Given the description of an element on the screen output the (x, y) to click on. 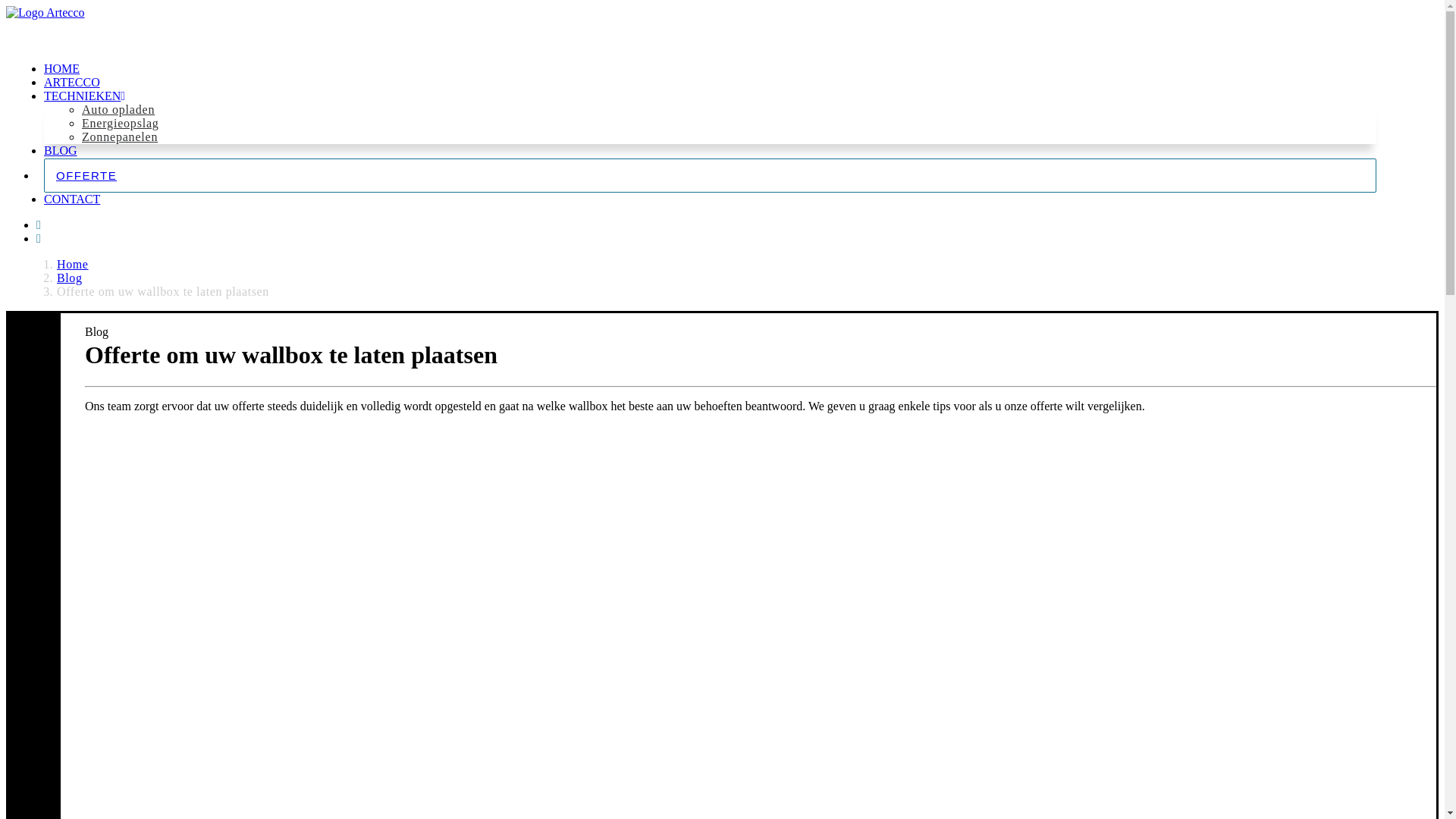
CONTACT Element type: text (71, 198)
BLOG Element type: text (60, 150)
Blog Element type: text (69, 277)
Home Element type: text (72, 263)
Energieopslag Element type: text (120, 122)
HOME Element type: text (61, 68)
TECHNIEKEN Element type: text (84, 95)
OFFERTE Element type: text (709, 175)
Zonnepanelen Element type: text (119, 136)
Auto opladen Element type: text (117, 109)
ARTECCO Element type: text (71, 81)
